Given the description of an element on the screen output the (x, y) to click on. 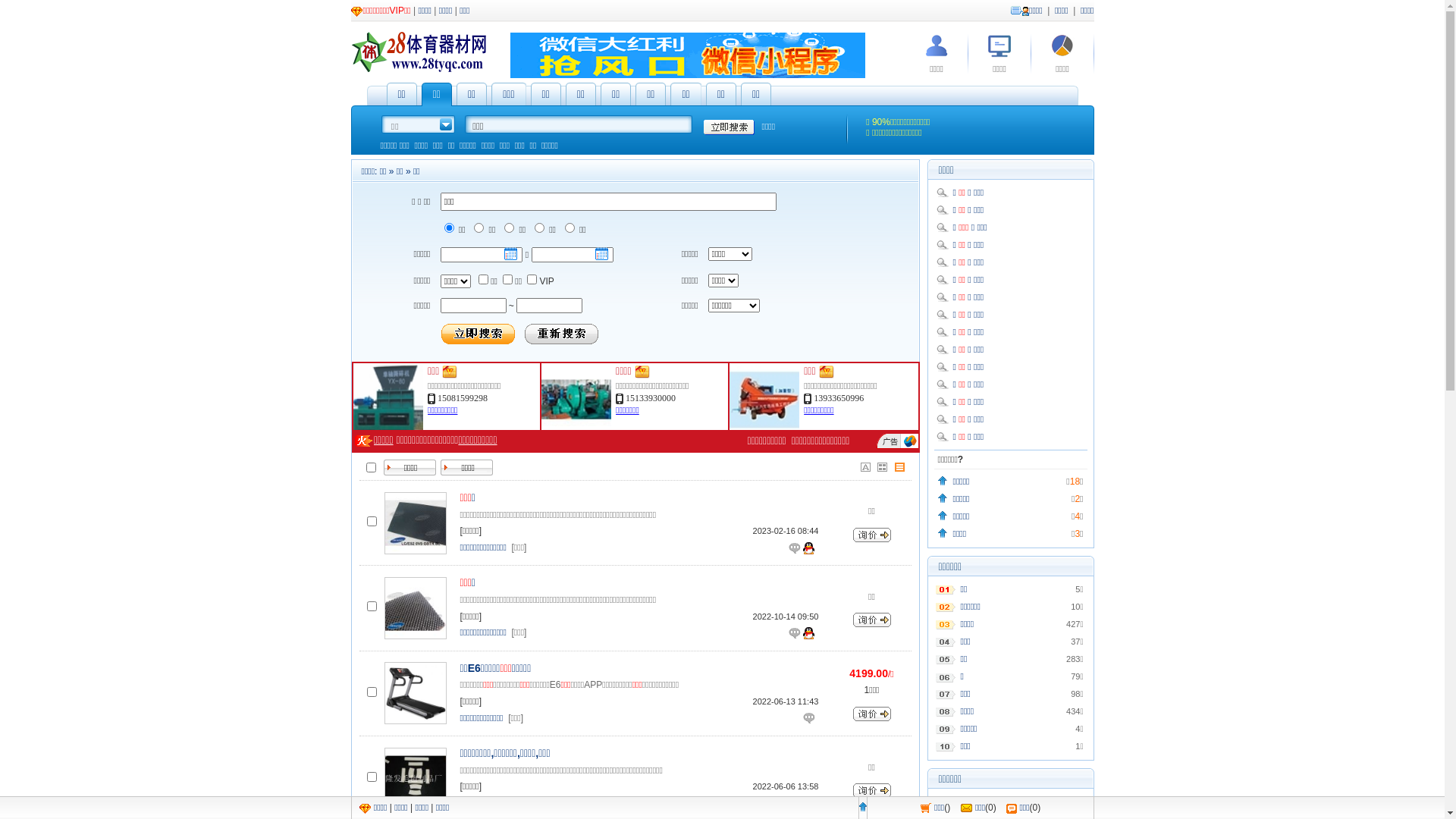
1656 Element type: text (371, 776)
3374 Element type: text (371, 521)
3373 Element type: text (371, 606)
6116 Element type: text (371, 691)
on Element type: text (371, 467)
